Given the description of an element on the screen output the (x, y) to click on. 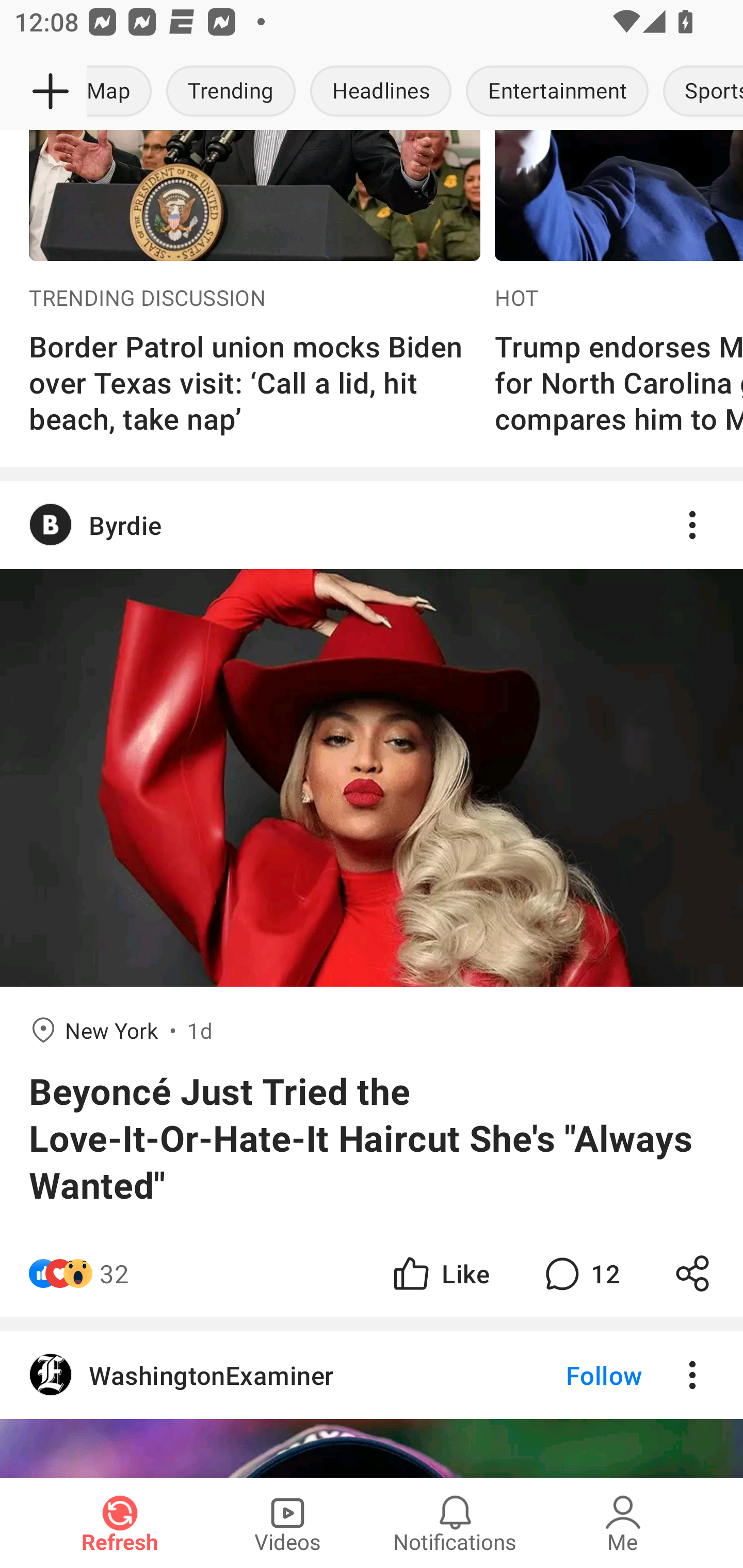
Crime Map (122, 91)
Trending (231, 91)
Headlines (380, 91)
Entertainment (557, 91)
Byrdie (371, 525)
32 (114, 1273)
Like (439, 1273)
12 (579, 1273)
WashingtonExaminer Follow (371, 1375)
Follow (569, 1375)
Videos (287, 1522)
Notifications (455, 1522)
Me (622, 1522)
